Given the description of an element on the screen output the (x, y) to click on. 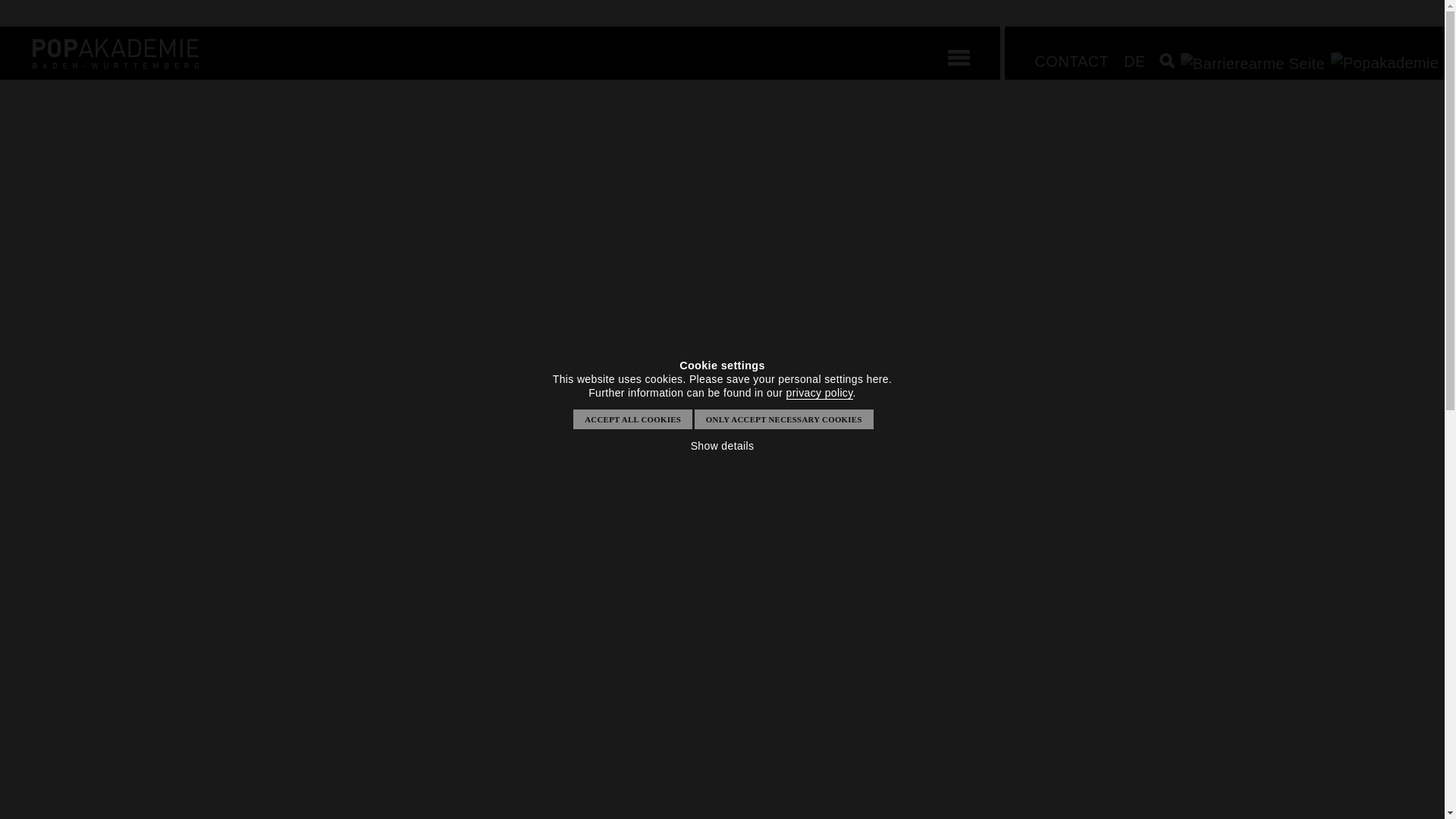
privacy policy (819, 392)
ACCEPT ALL COOKIES (1054, 698)
DE (1134, 61)
Show details (722, 445)
CONTACT (1070, 61)
